Given the description of an element on the screen output the (x, y) to click on. 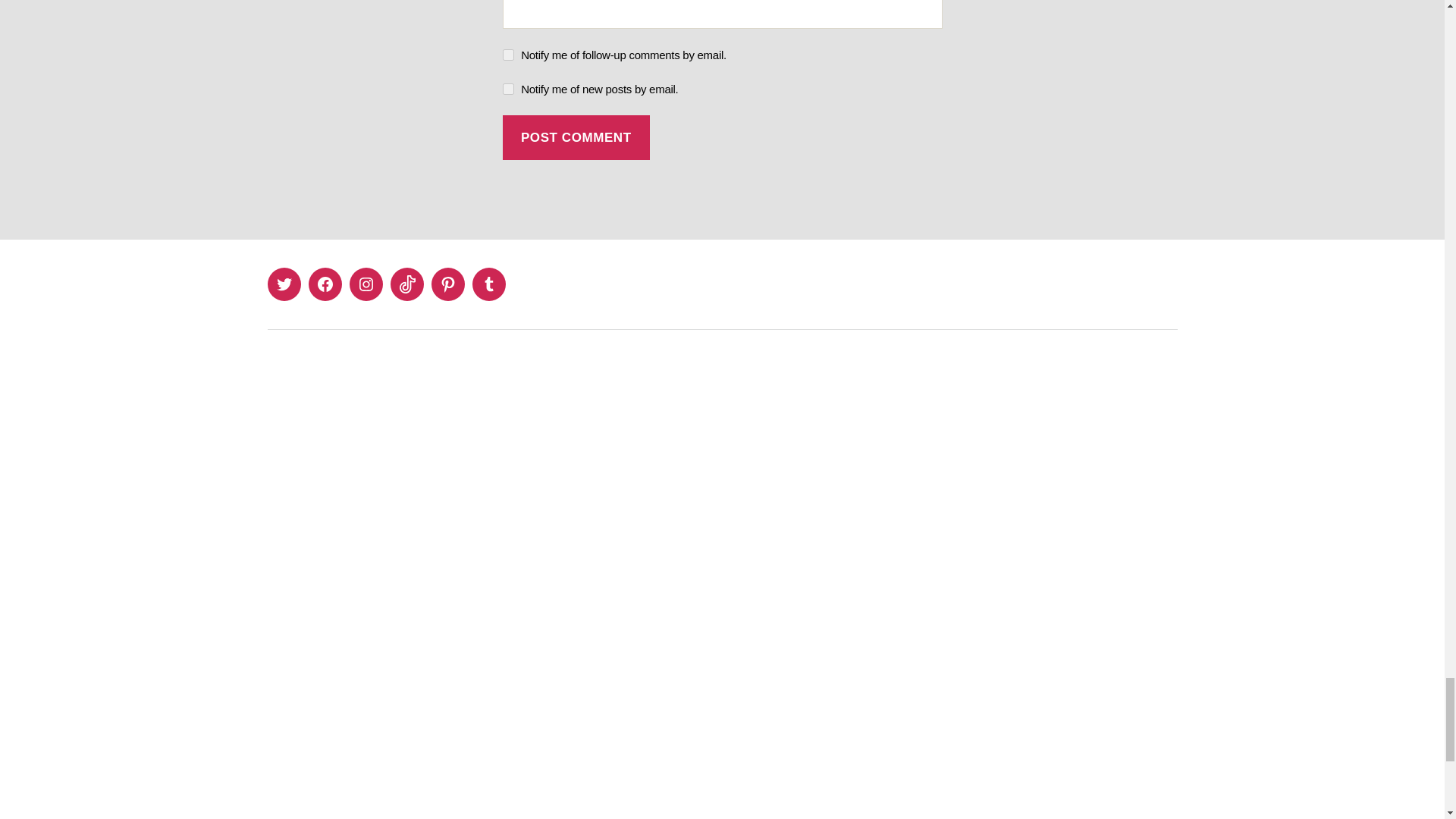
subscribe (507, 54)
subscribe (507, 89)
Post Comment (575, 137)
